Given the description of an element on the screen output the (x, y) to click on. 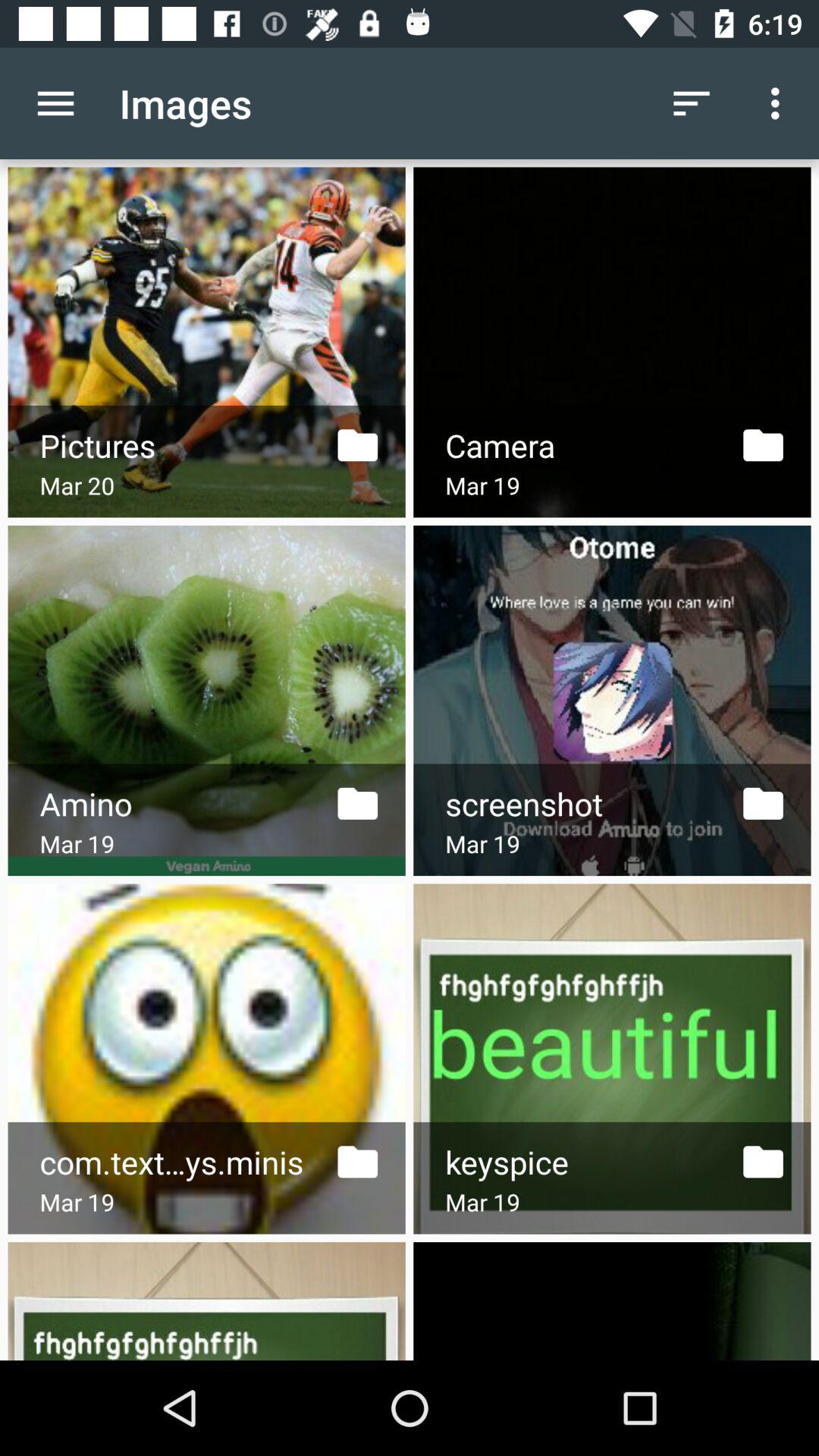
click the app next to images item (55, 103)
